Given the description of an element on the screen output the (x, y) to click on. 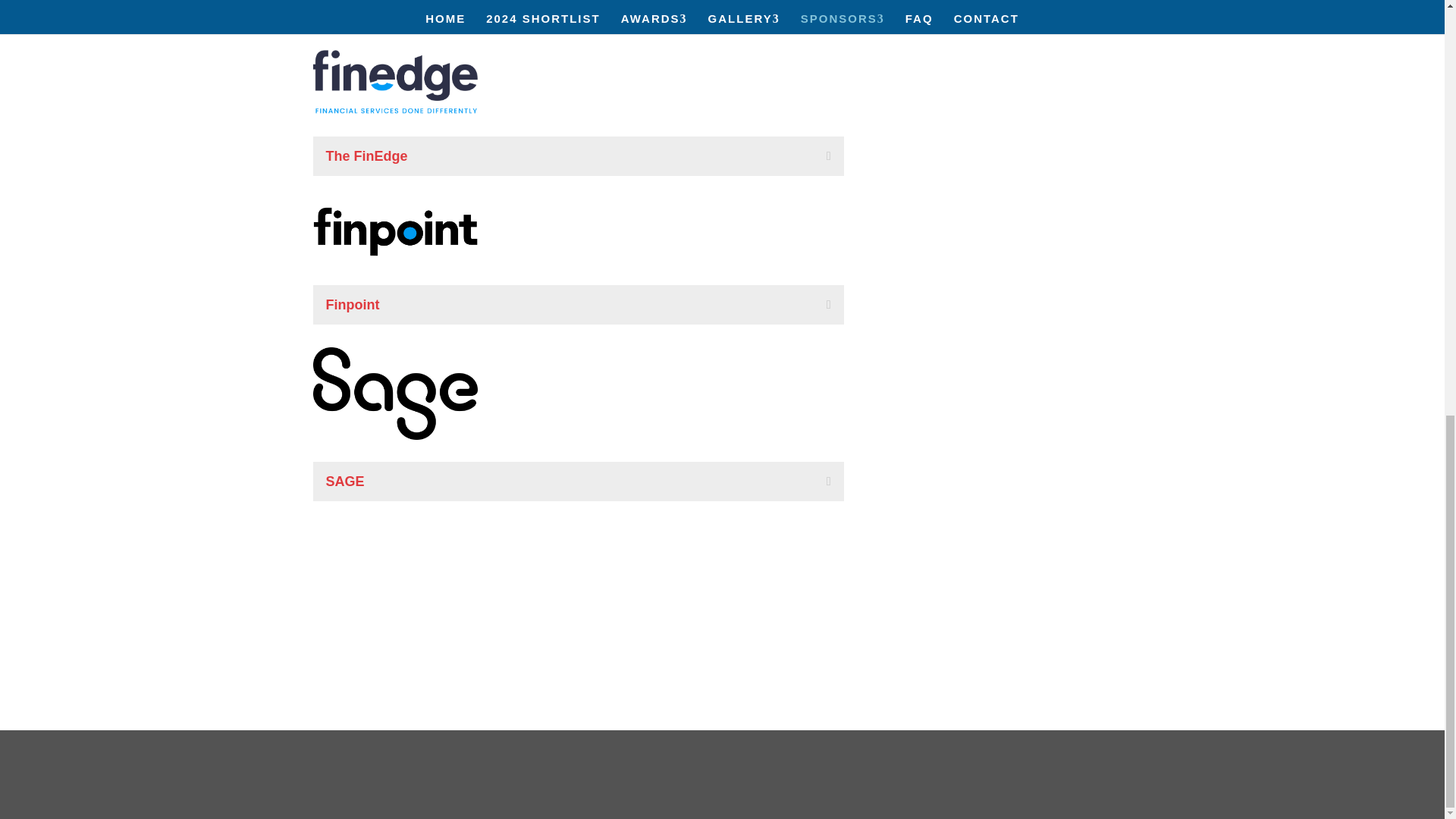
Finedge logo-tagline (395, 81)
finpoint logo New (395, 230)
